Given the description of an element on the screen output the (x, y) to click on. 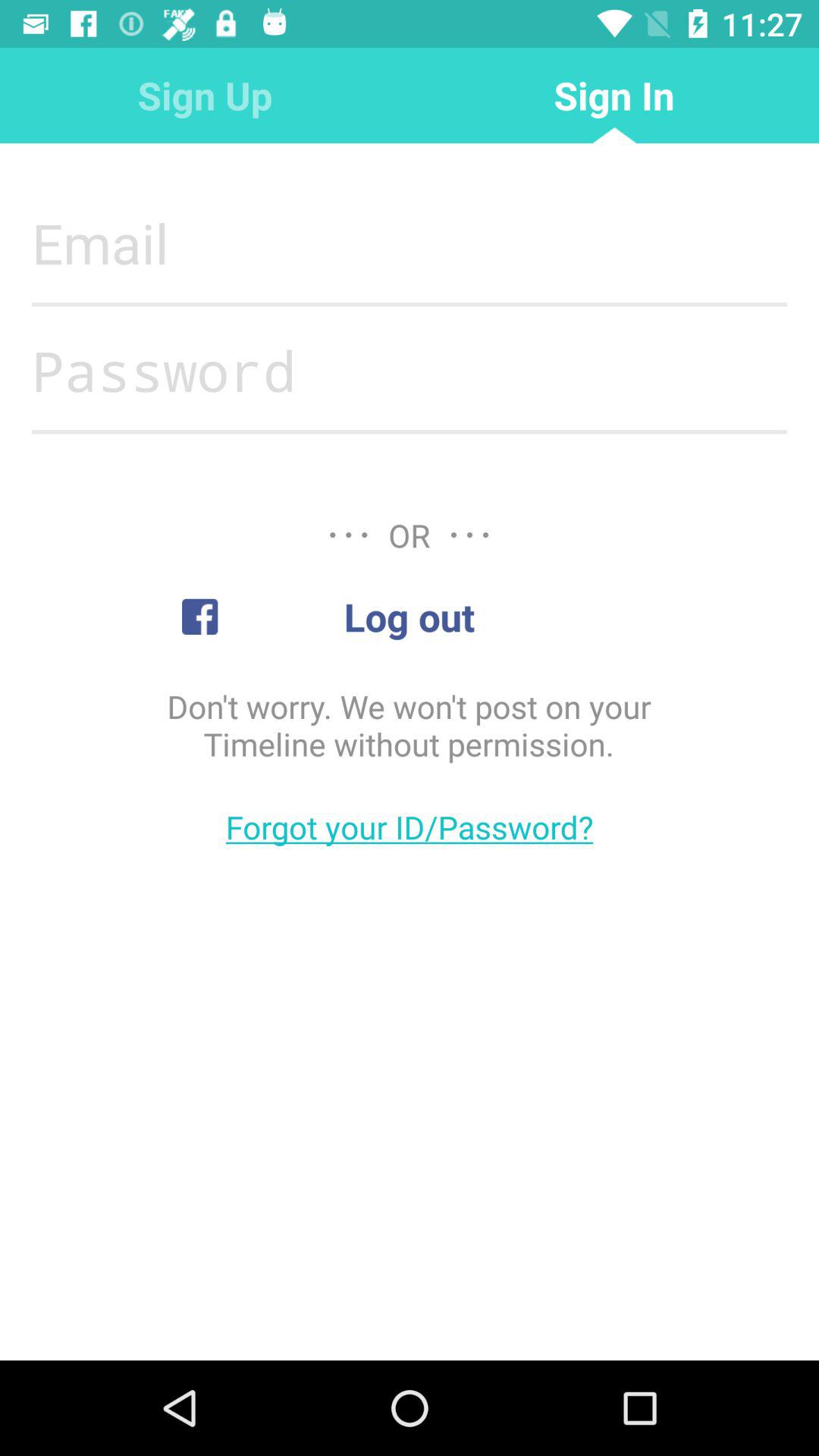
choose the item next to the sign in item (204, 95)
